Given the description of an element on the screen output the (x, y) to click on. 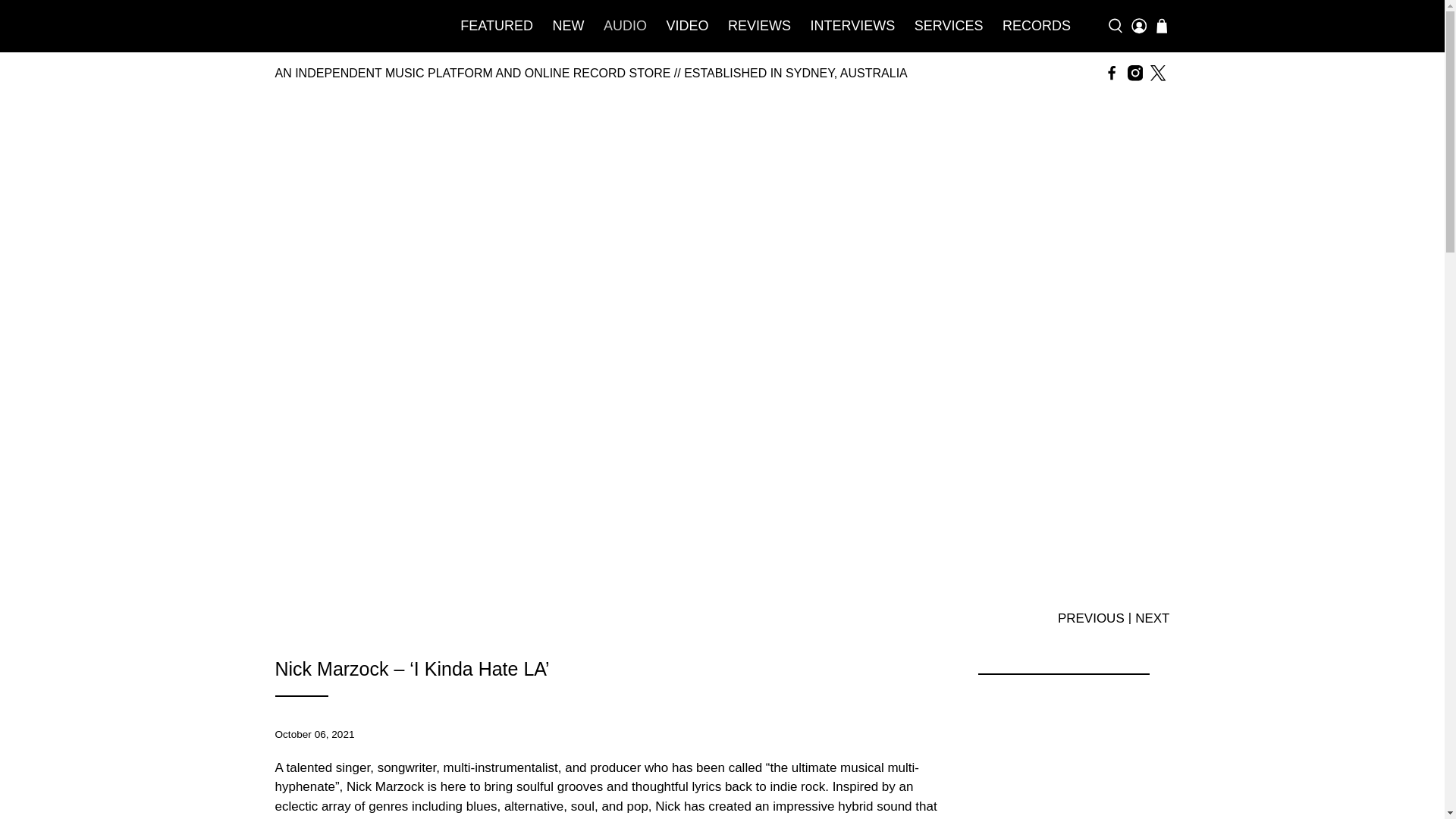
BROKEN 8 RECORDS on Instagram (1134, 72)
INTERVIEWS (852, 26)
Previous (1091, 617)
AUDIO (625, 26)
REVIEWS (758, 26)
NEW (568, 26)
BROKEN 8 RECORDS (349, 26)
RECORDS (1036, 26)
BROKEN 8 RECORDS on Facebook (1111, 72)
SERVICES (948, 26)
